Given the description of an element on the screen output the (x, y) to click on. 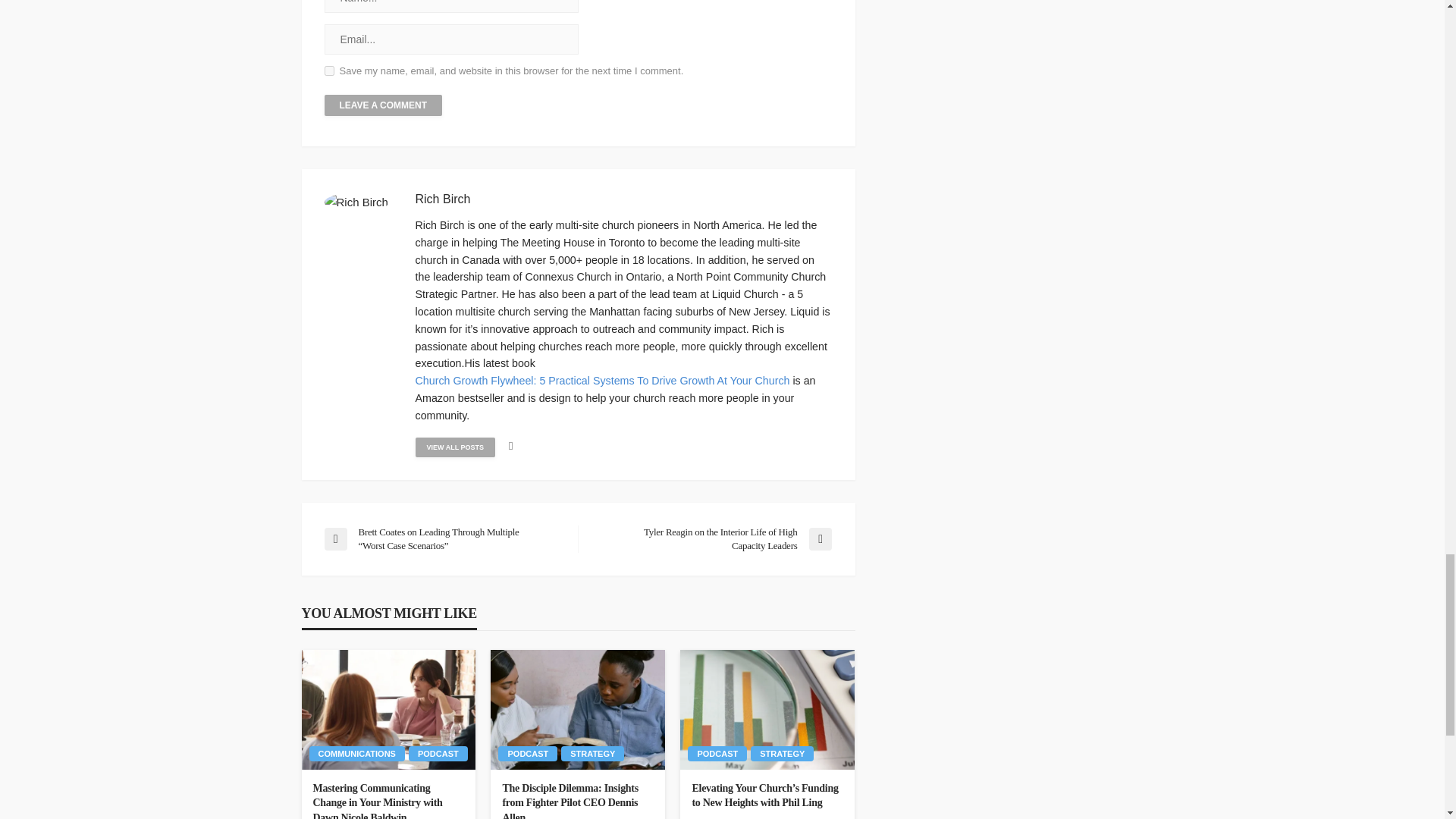
yes (329, 71)
Leave a comment (383, 105)
